Given the description of an element on the screen output the (x, y) to click on. 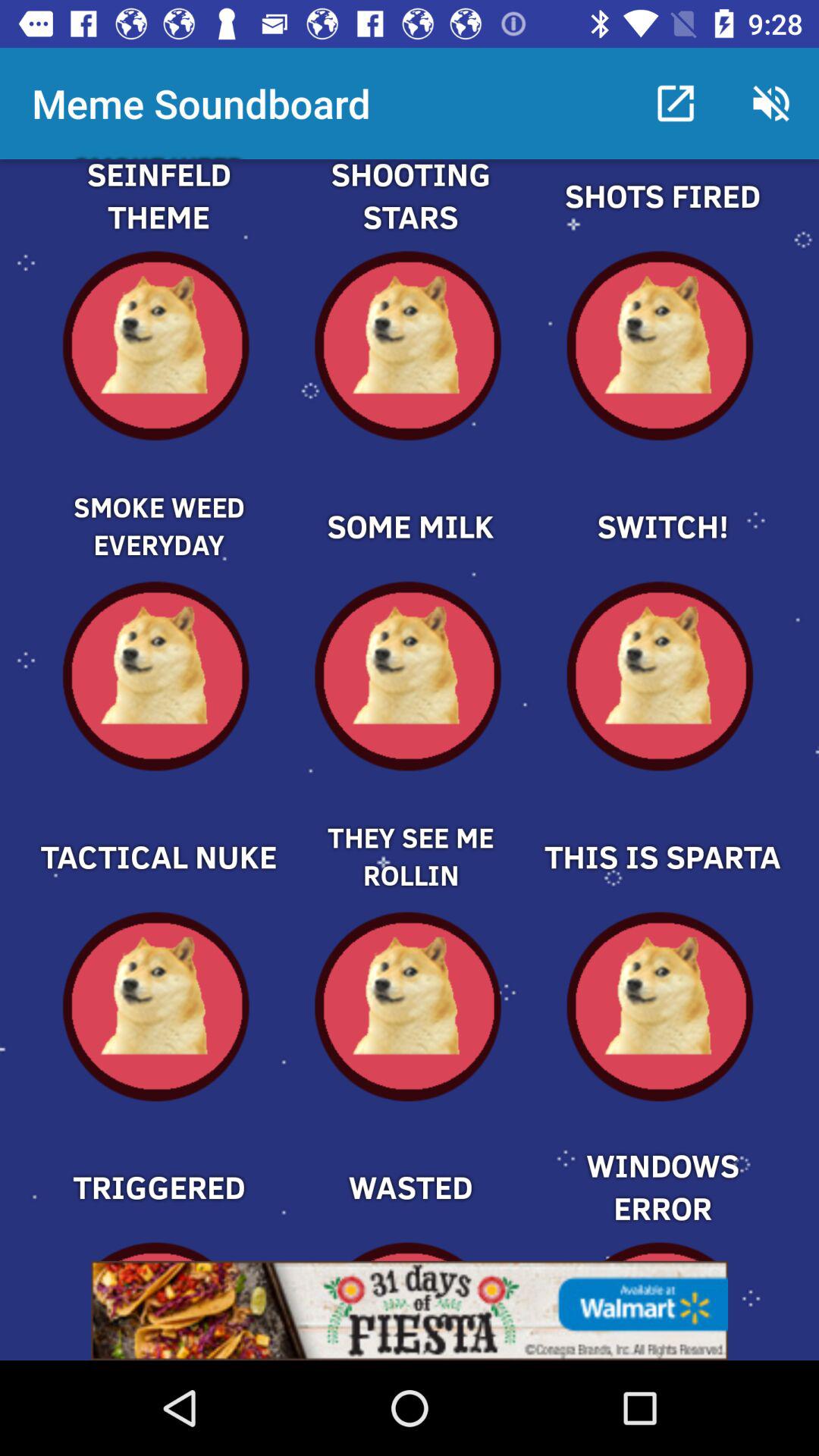
select seinfeld theme (157, 214)
